Given the description of an element on the screen output the (x, y) to click on. 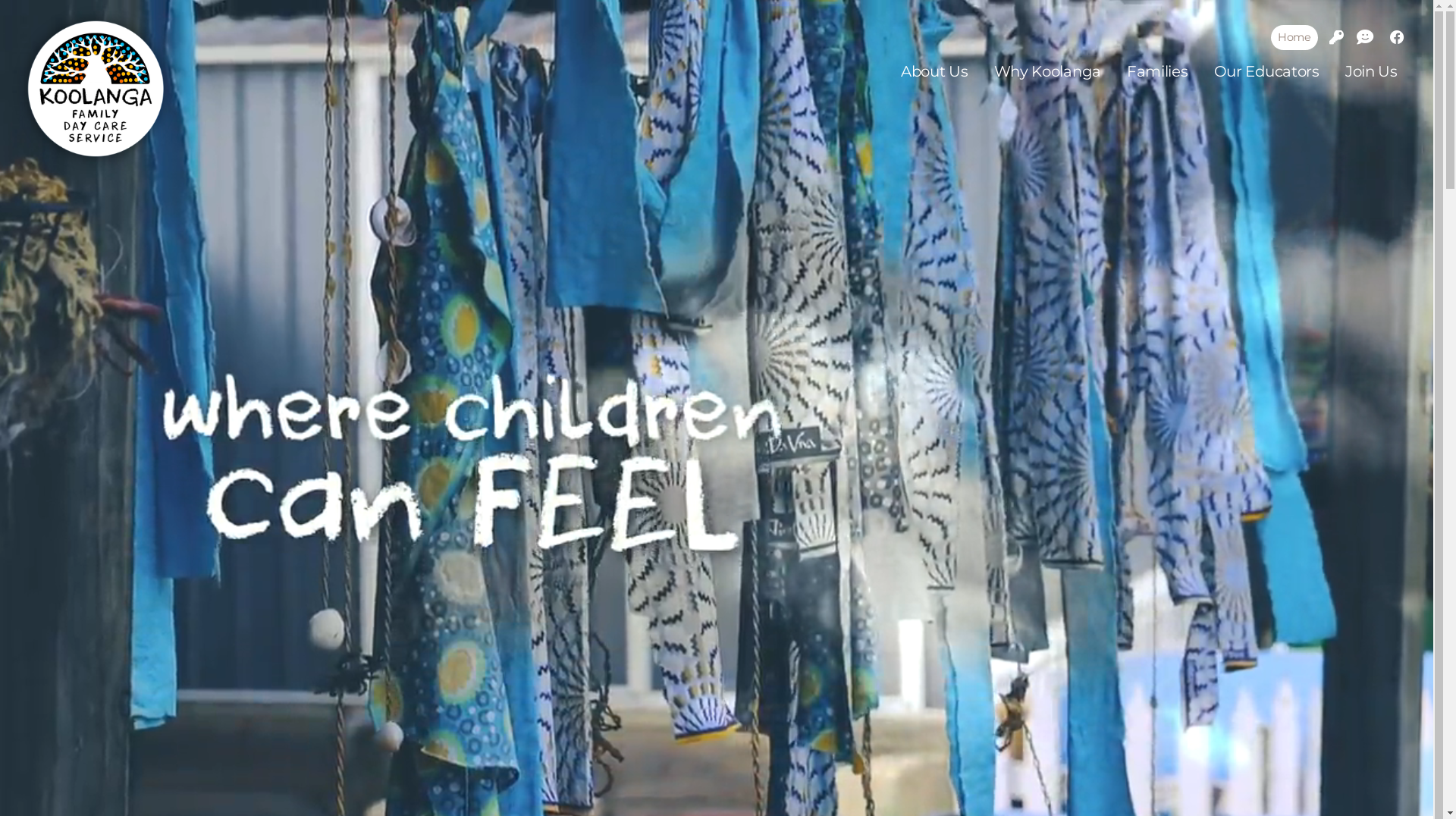
Why Koolanga Element type: text (1047, 71)
Our Educators Element type: text (1266, 71)
Families Element type: text (1157, 71)
Submit Element type: text (612, 603)
Home Element type: text (1294, 37)
About Us Element type: text (934, 71)
Join Us Element type: text (1370, 71)
